Given the description of an element on the screen output the (x, y) to click on. 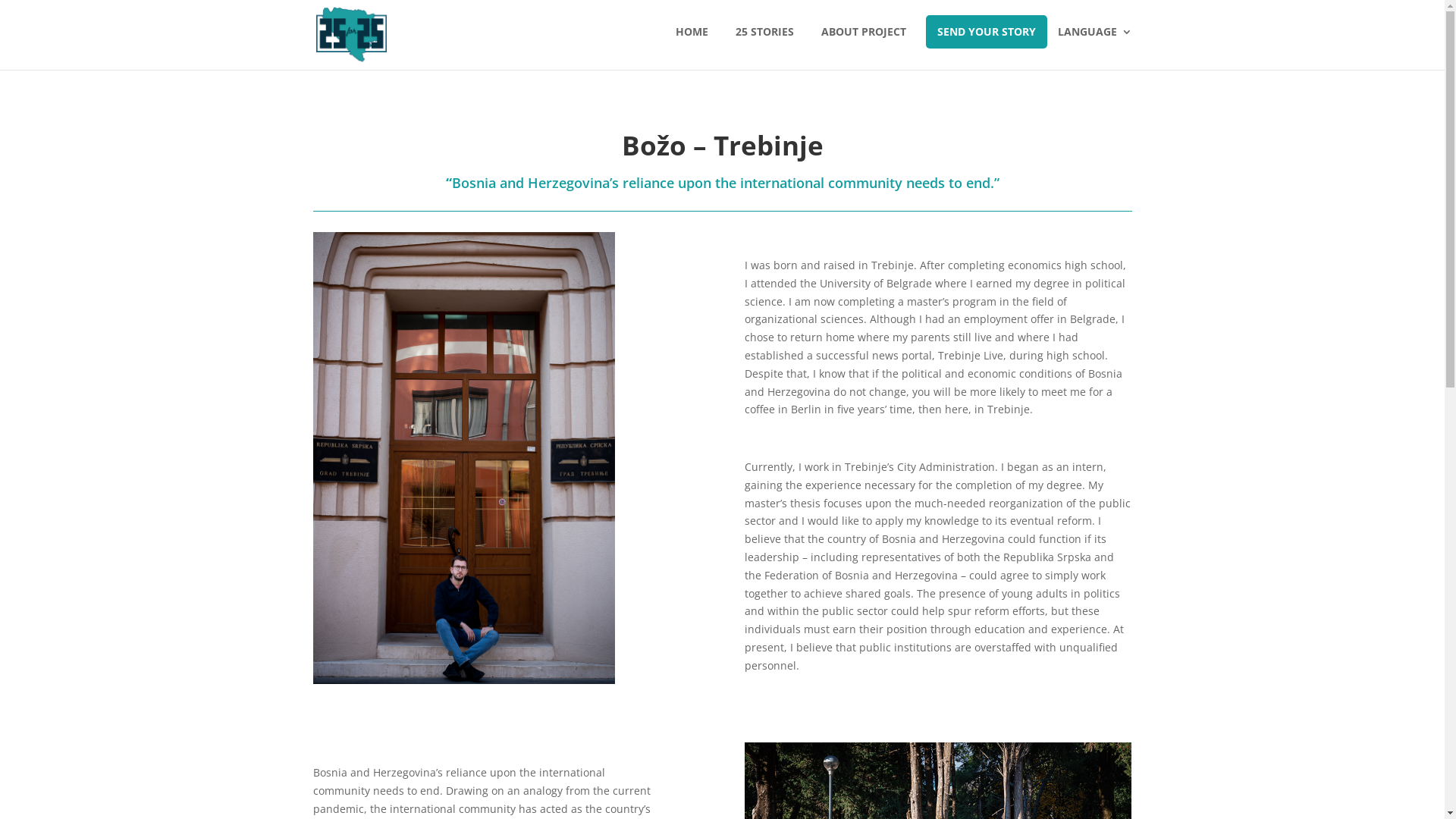
25 STORIES Element type: text (760, 44)
HOME Element type: text (687, 44)
Bozo Element type: hover (463, 683)
3 Element type: text (476, 652)
ABOUT PROJECT Element type: text (858, 44)
SEND YOUR STORY Element type: text (985, 31)
2 Element type: text (463, 652)
LANGUAGE Element type: text (1090, 44)
1 Element type: text (450, 652)
